Given the description of an element on the screen output the (x, y) to click on. 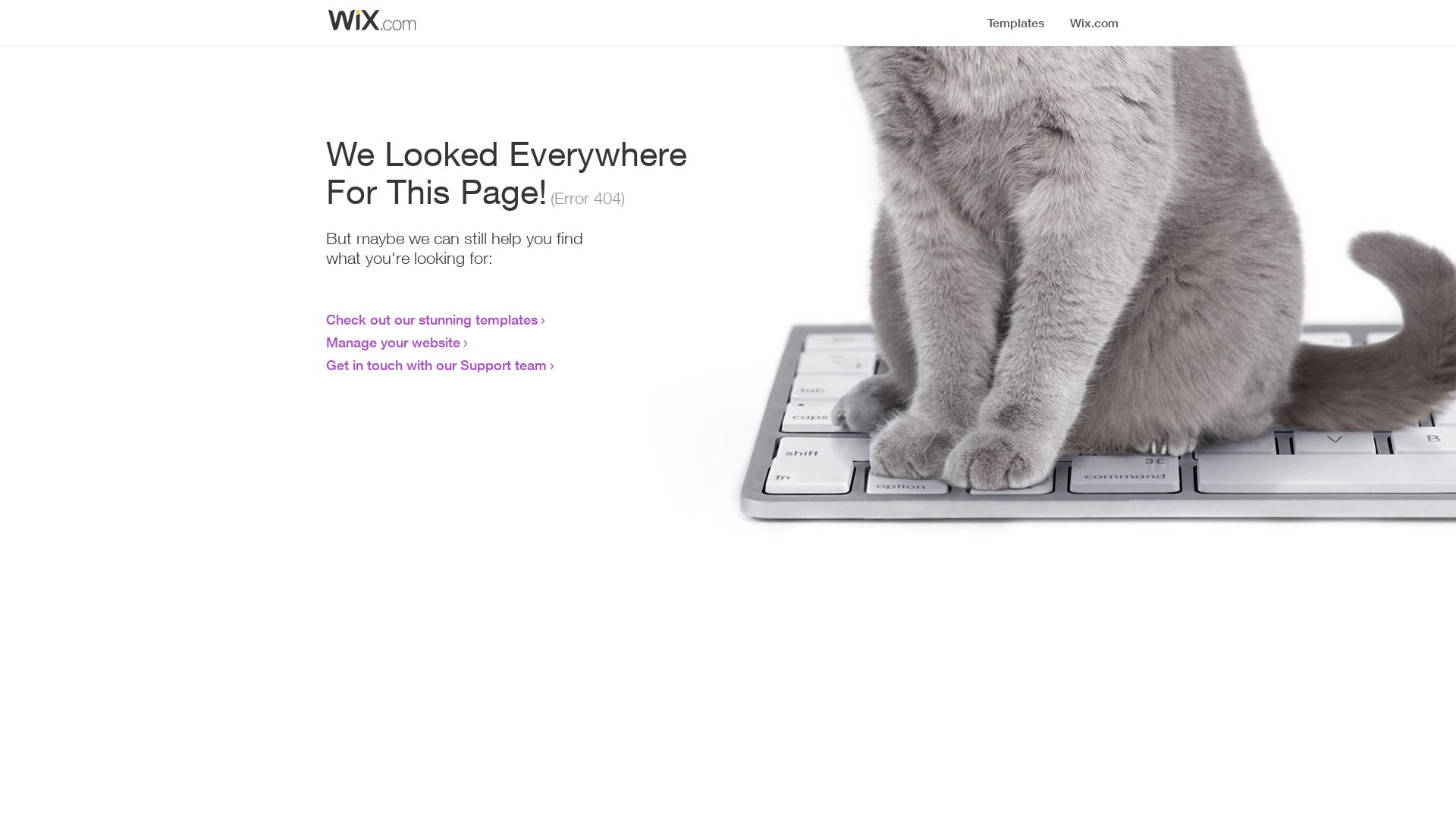
Check out our stunning templates Element type: text (431, 318)
Manage your website Element type: text (393, 341)
Get in touch with our Support team Element type: text (436, 364)
